Given the description of an element on the screen output the (x, y) to click on. 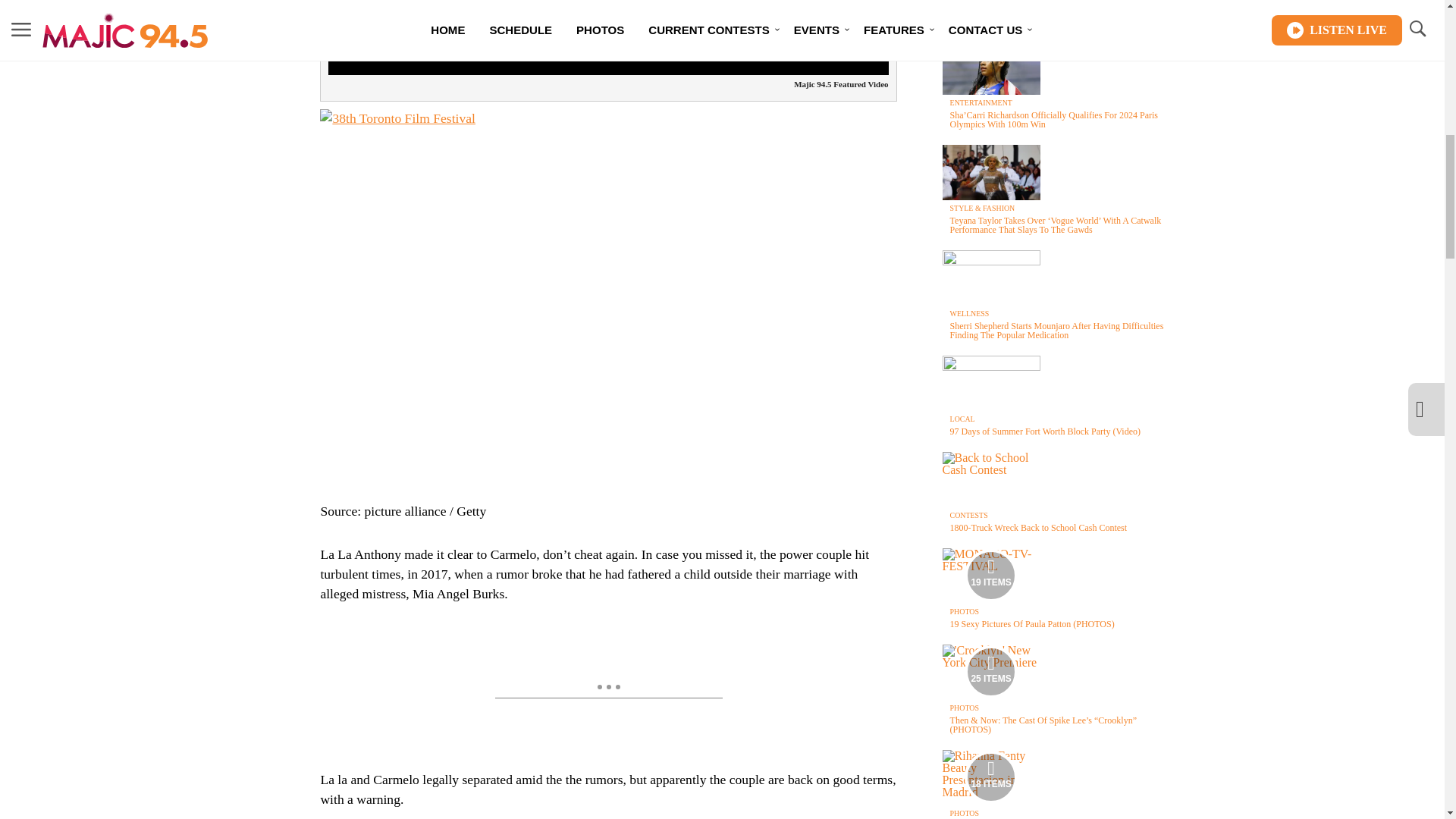
Media Playlist (990, 574)
Media Playlist (990, 777)
Media Playlist (990, 671)
